Given the description of an element on the screen output the (x, y) to click on. 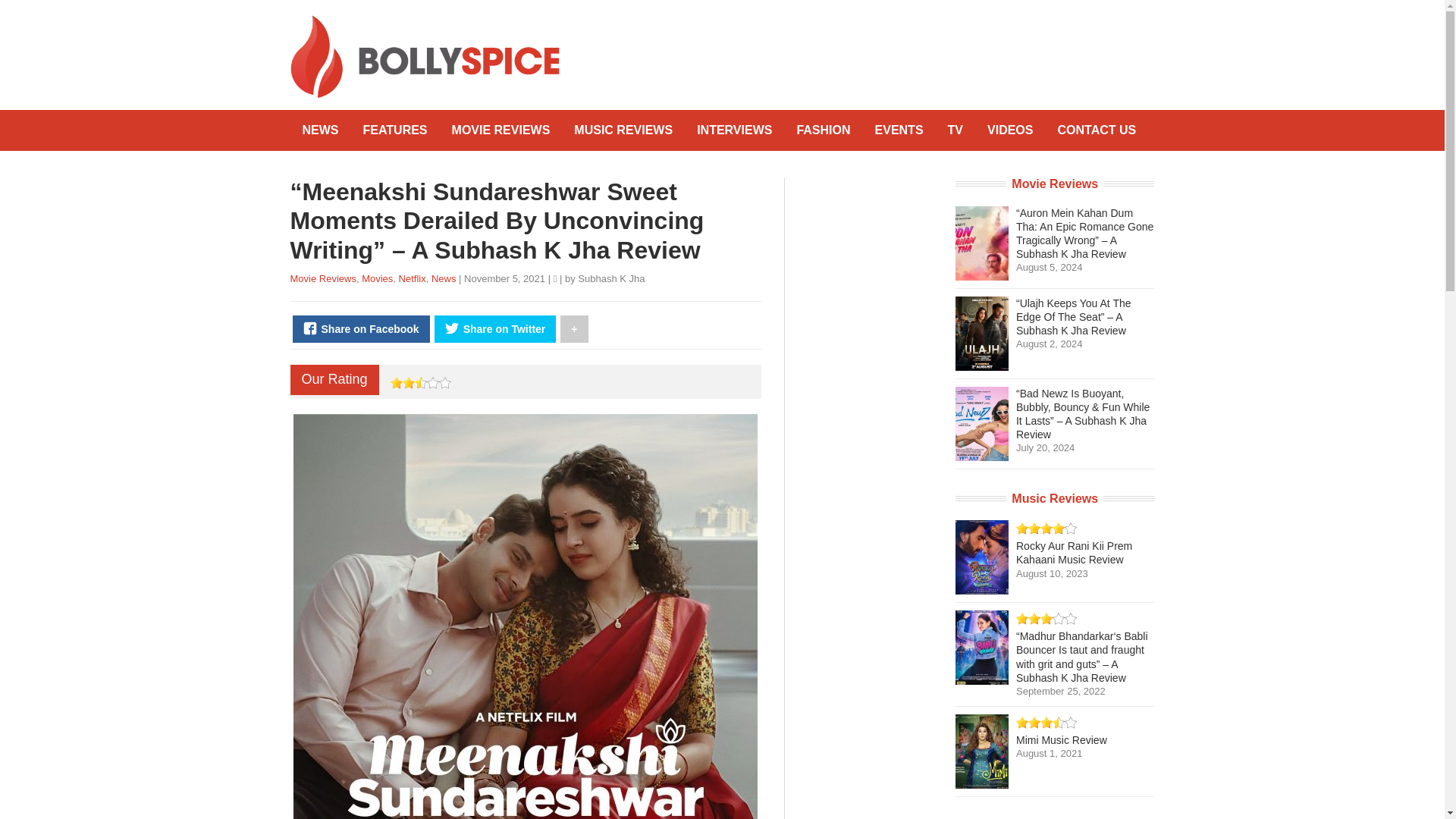
VIDEOS (1010, 130)
TV (955, 130)
August 10, 2023 (1051, 573)
Advertisement (878, 49)
CONTACT US (1096, 130)
July 20, 2024 (1045, 447)
August 2, 2024 (1048, 343)
EVENTS (899, 130)
Rocky Aur Rani Kii Prem Kahaani Music Review (1074, 552)
Subhash K Jha (611, 278)
